Given the description of an element on the screen output the (x, y) to click on. 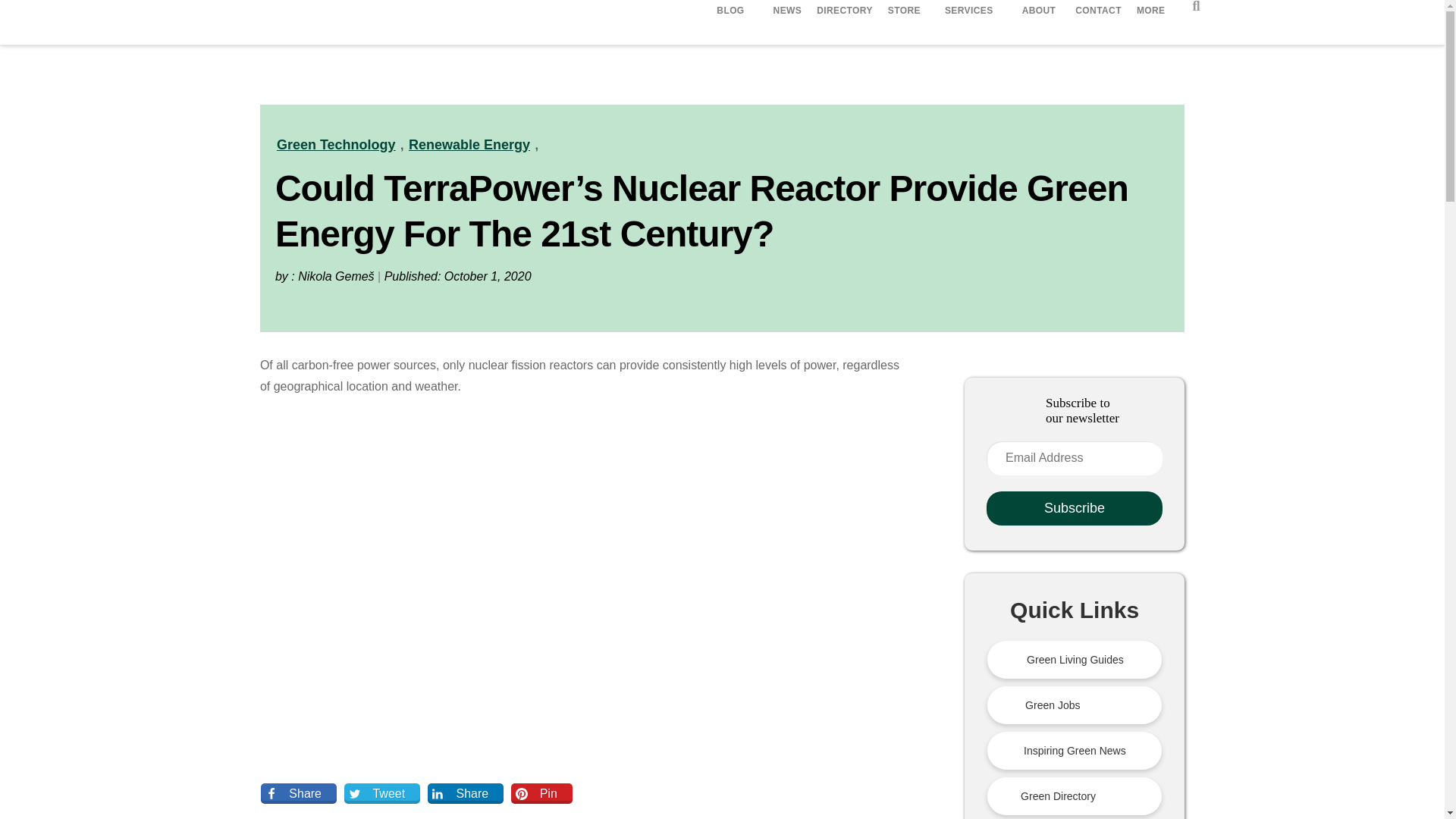
MORE (1153, 12)
DIRECTORY (844, 12)
NEWS (787, 12)
CONTACT (1098, 12)
ABOUT (1041, 12)
SERVICES (971, 10)
Subscribe (1074, 508)
BLOG (732, 10)
STORE (904, 12)
